Given the description of an element on the screen output the (x, y) to click on. 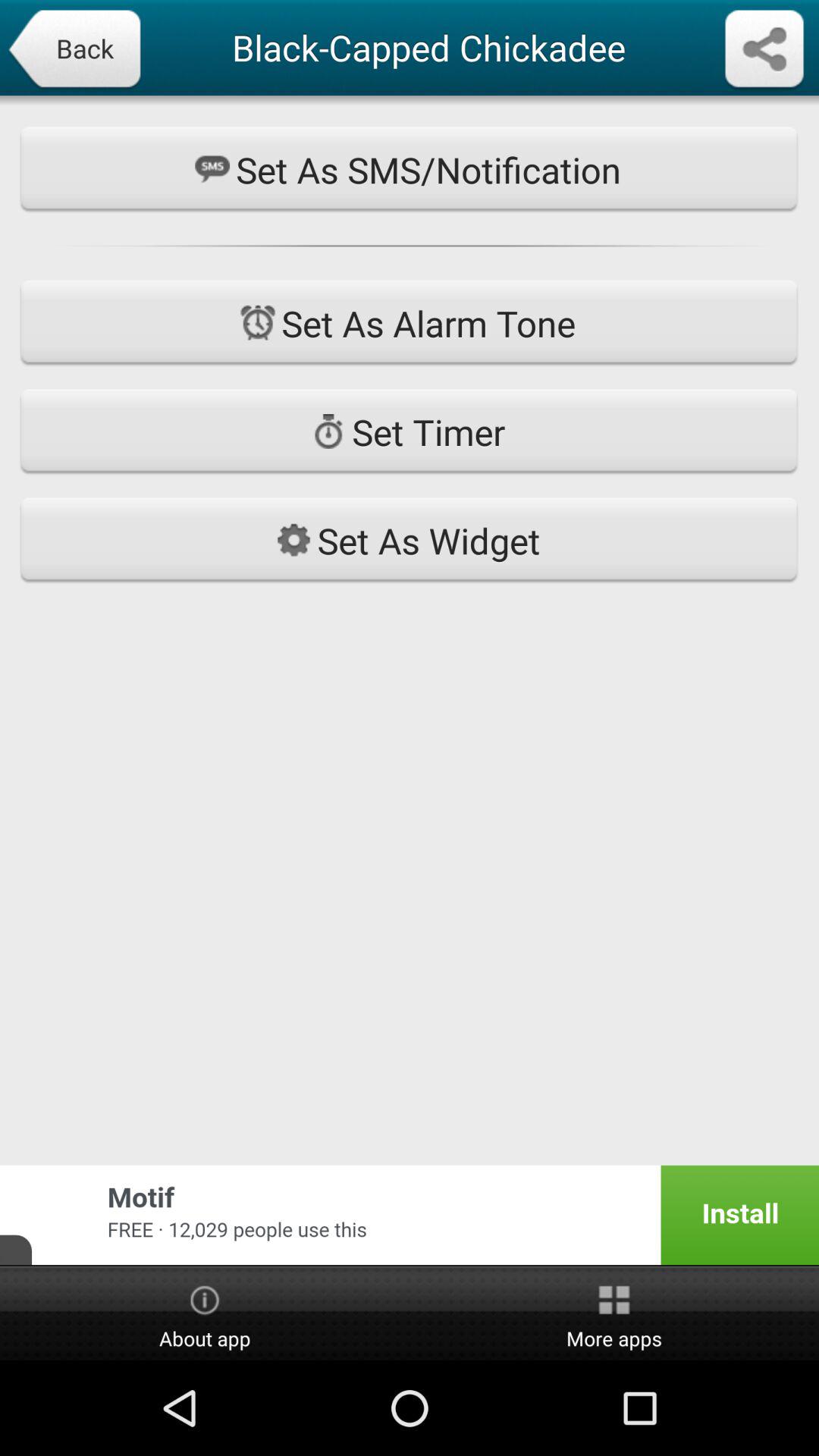
turn on icon at the bottom (409, 1214)
